Given the description of an element on the screen output the (x, y) to click on. 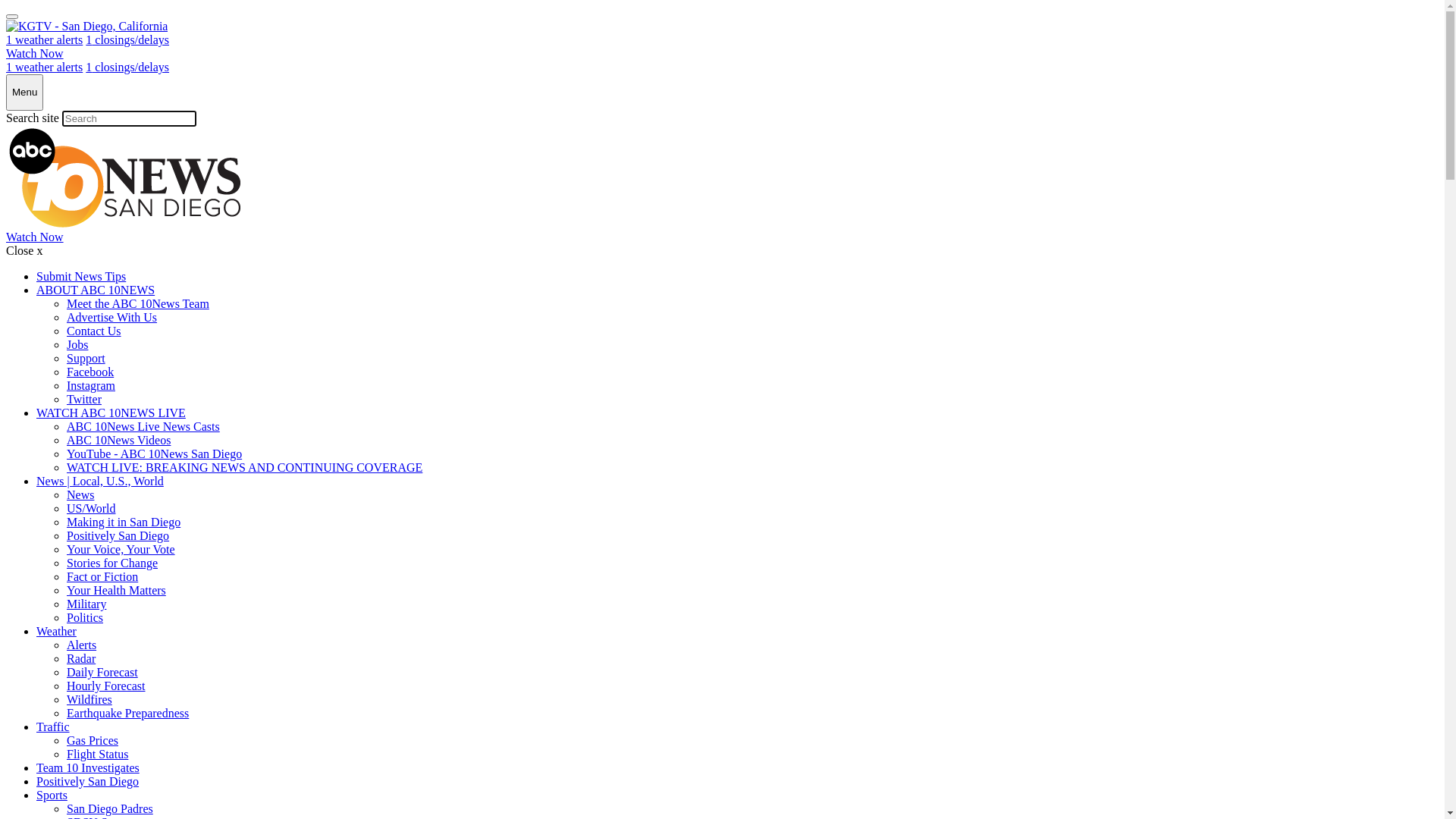
Watch Now Element type: text (34, 53)
Sports Element type: text (51, 794)
WATCH ABC 10NEWS LIVE Element type: text (110, 412)
Alerts Element type: text (81, 644)
Twitter Element type: text (83, 398)
Your Voice, Your Vote Element type: text (120, 548)
Close x Element type: text (24, 250)
Your Health Matters Element type: text (116, 589)
Advertise With Us Element type: text (111, 316)
Hourly Forecast Element type: text (105, 685)
1 closings/delays Element type: text (127, 39)
News Element type: text (80, 494)
Positively San Diego Element type: text (87, 781)
Military Element type: text (86, 603)
ABC 10News Live News Casts Element type: text (142, 426)
YouTube - ABC 10News San Diego Element type: text (153, 453)
Contact Us Element type: text (93, 330)
US/World Element type: text (91, 508)
Stories for Change Element type: text (111, 562)
Positively San Diego Element type: text (117, 535)
Meet the ABC 10News Team Element type: text (137, 303)
Menu Element type: text (24, 92)
San Diego Padres Element type: text (109, 808)
1 closings/delays Element type: text (127, 66)
Politics Element type: text (84, 617)
News | Local, U.S., World Element type: text (99, 480)
ABOUT ABC 10NEWS Element type: text (95, 289)
Traffic Element type: text (52, 726)
Instagram Element type: text (90, 385)
Weather Element type: text (56, 630)
Flight Status Element type: text (97, 753)
Support Element type: text (85, 357)
Earthquake Preparedness Element type: text (127, 712)
ABC 10News Videos Element type: text (118, 439)
WATCH LIVE: BREAKING NEWS AND CONTINUING COVERAGE Element type: text (244, 467)
Radar Element type: text (80, 658)
Facebook Element type: text (89, 371)
Gas Prices Element type: text (92, 740)
Making it in San Diego Element type: text (123, 521)
Team 10 Investigates Element type: text (87, 767)
Jobs Element type: text (76, 344)
Daily Forecast Element type: text (102, 671)
Fact or Fiction Element type: text (102, 576)
1 weather alerts Element type: text (44, 39)
Watch Now Element type: text (34, 236)
Wildfires Element type: text (89, 699)
Submit News Tips Element type: text (80, 275)
1 weather alerts Element type: text (44, 66)
